Given the description of an element on the screen output the (x, y) to click on. 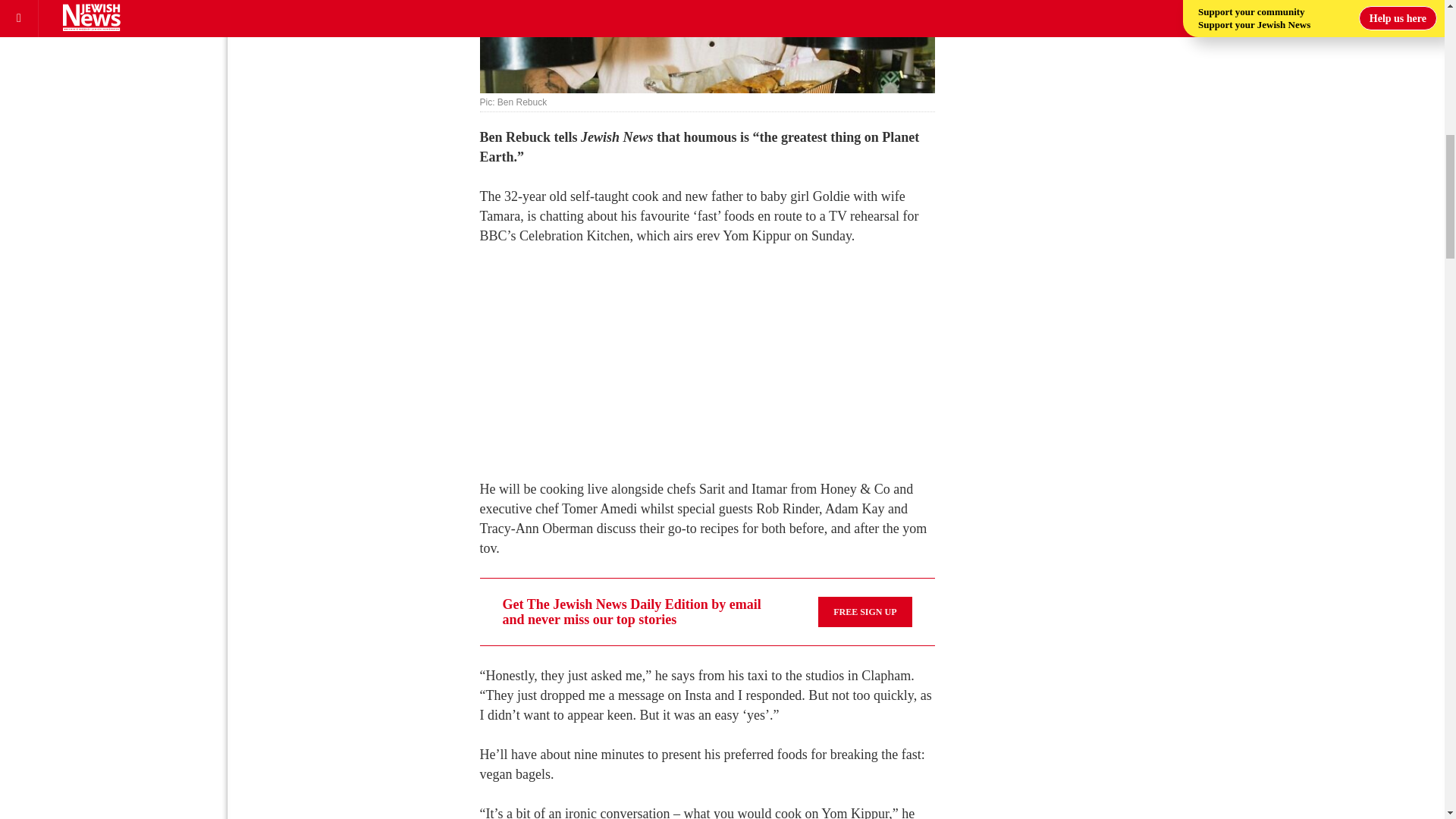
Pic: Ben Rebuck (706, 46)
